Given the description of an element on the screen output the (x, y) to click on. 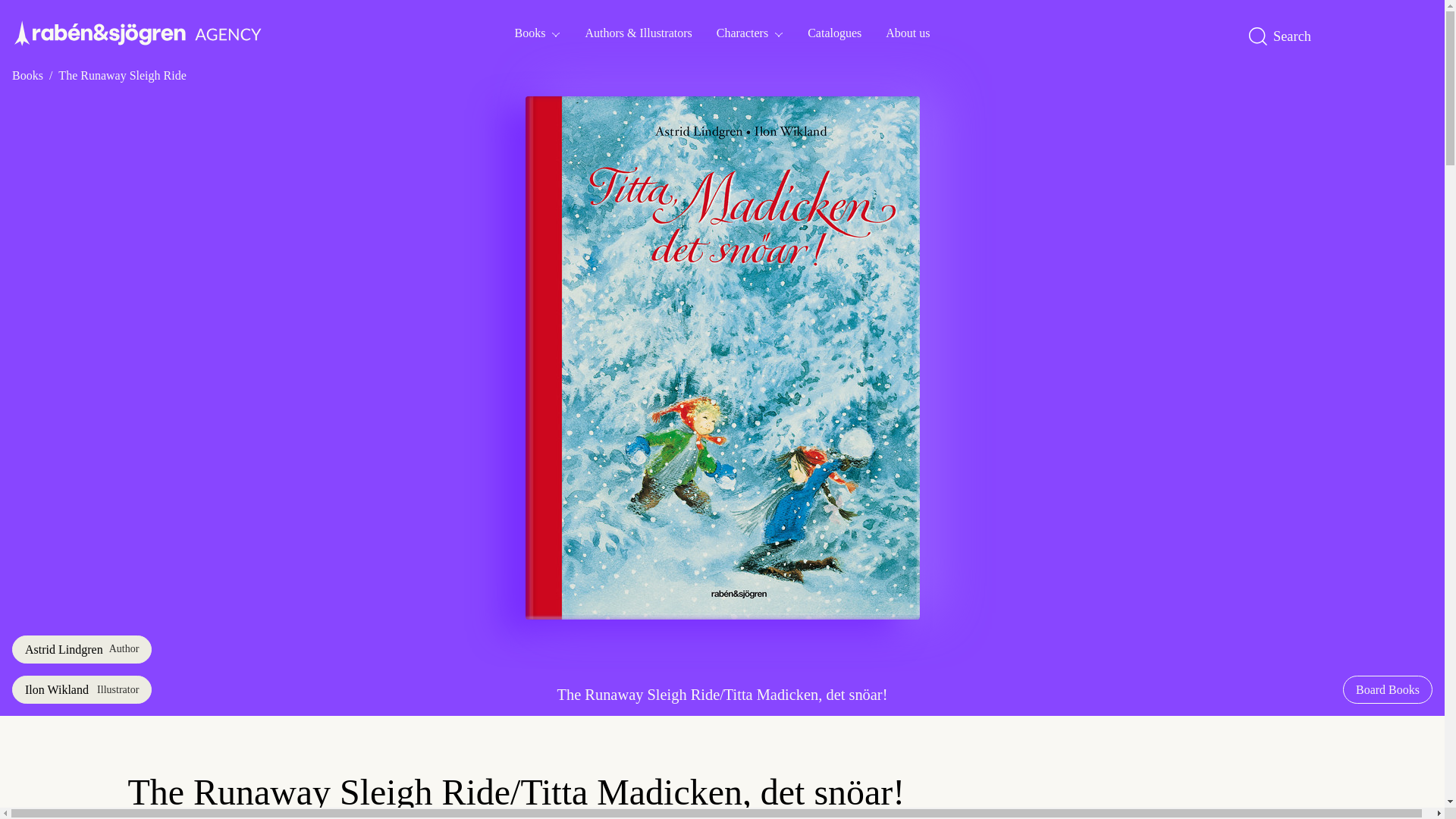
Catalogues (833, 32)
Board Books (1387, 689)
Astrid Lindgren (81, 649)
Ilon Wikland (81, 689)
About us (907, 32)
Search (1284, 36)
Books (537, 32)
